Given the description of an element on the screen output the (x, y) to click on. 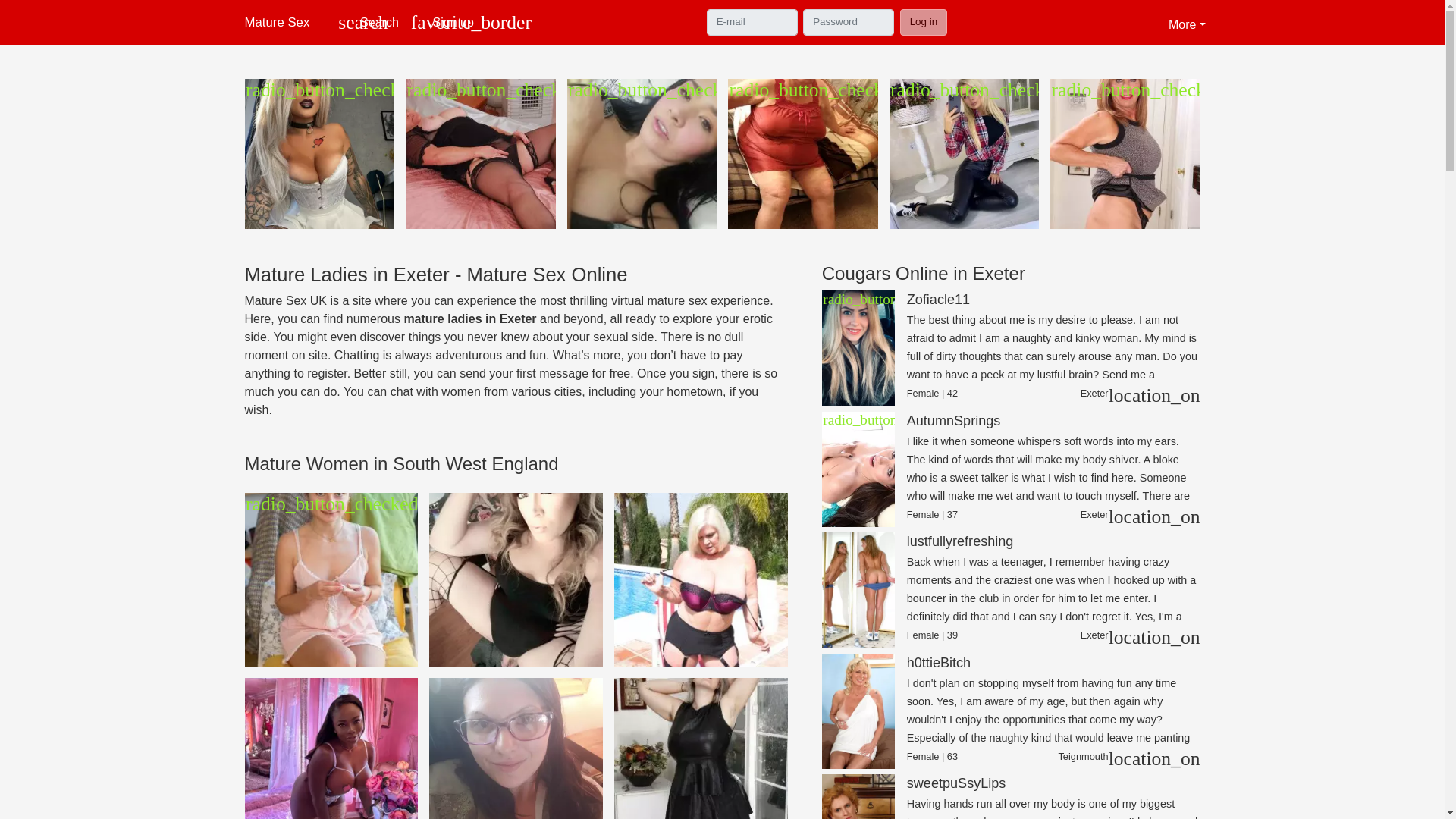
Mature Sex (282, 21)
Log in (367, 22)
More (923, 22)
